Given the description of an element on the screen output the (x, y) to click on. 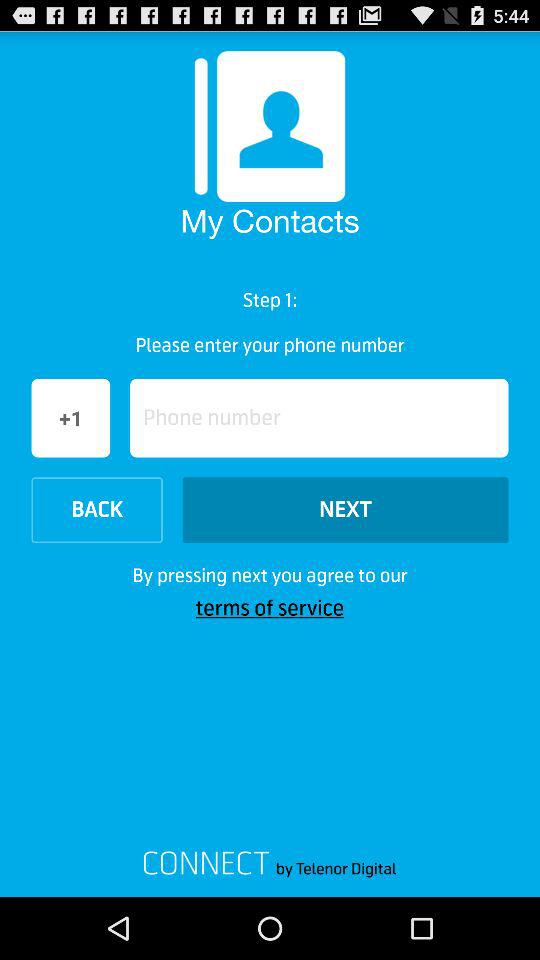
press icon to the left of the next item (96, 510)
